Given the description of an element on the screen output the (x, y) to click on. 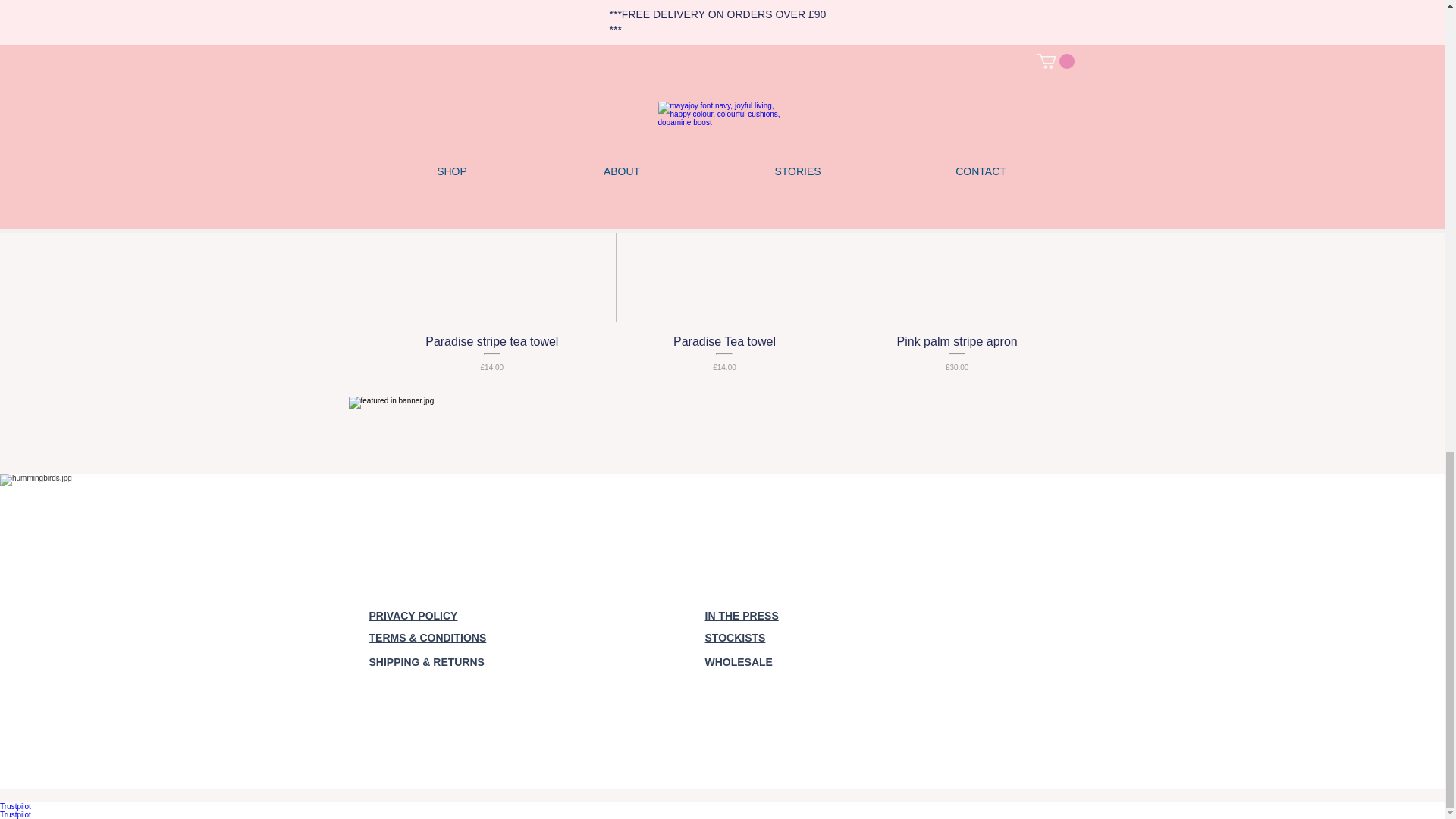
Brand New (723, 213)
Brand New (492, 213)
Brand New (956, 213)
